Given the description of an element on the screen output the (x, y) to click on. 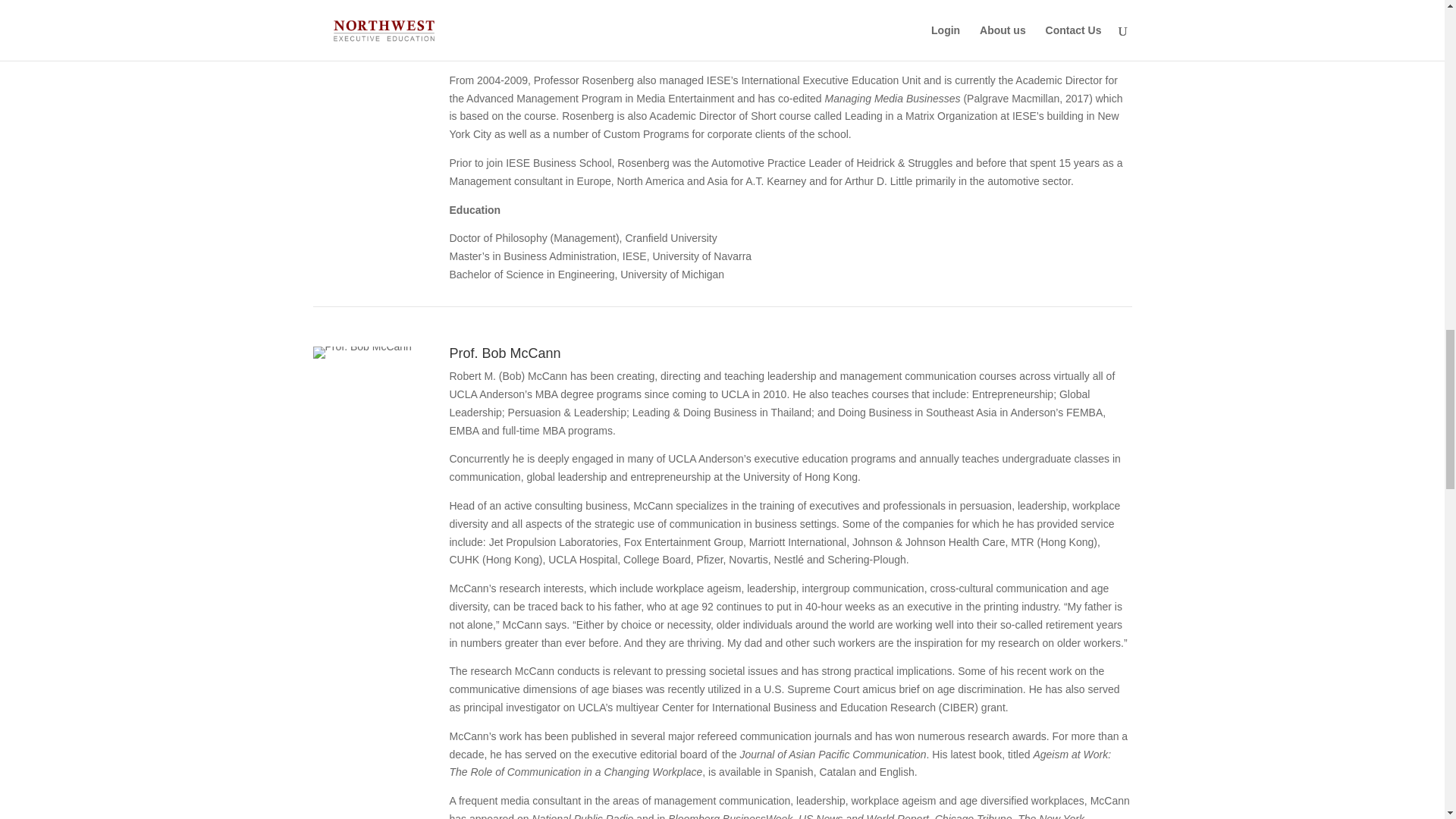
Custom Programs (646, 133)
Leading in a Matrix Organization (920, 115)
Advanced Management Program in Media Entertainment  (600, 98)
